Given the description of an element on the screen output the (x, y) to click on. 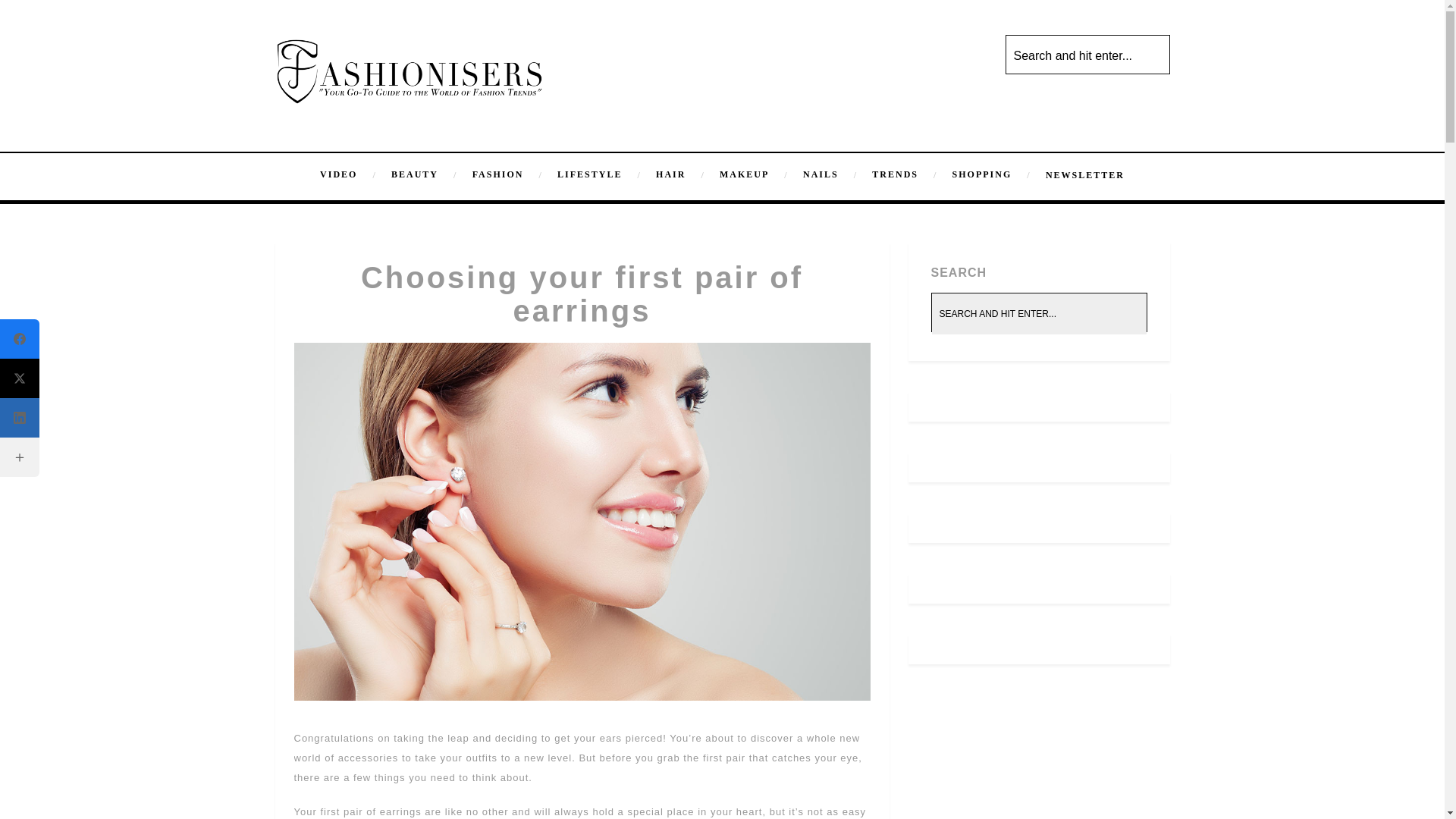
Search and hit enter... (1089, 56)
Search and hit enter... (1039, 313)
